Given the description of an element on the screen output the (x, y) to click on. 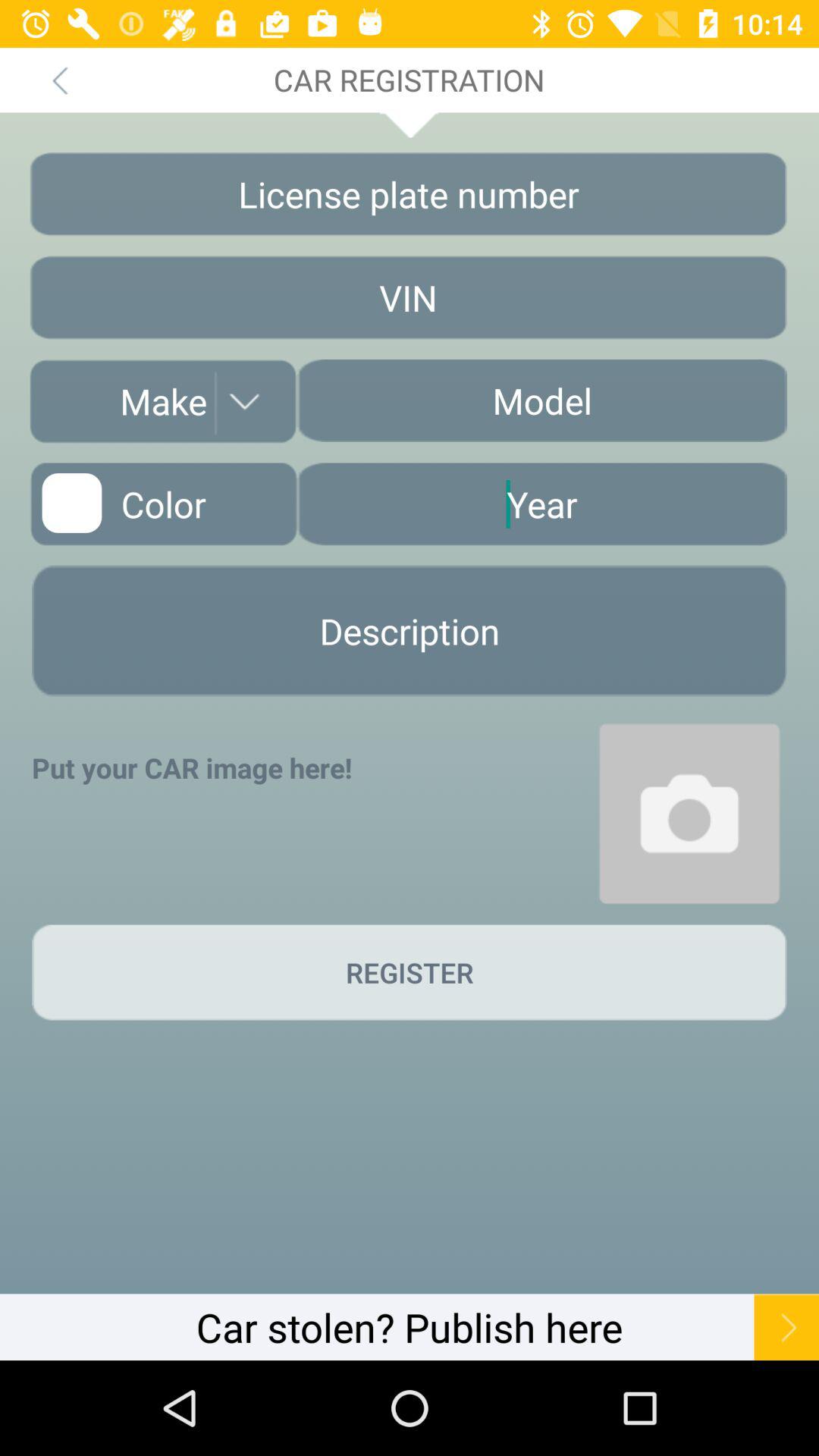
enter the year (541, 503)
